Given the description of an element on the screen output the (x, y) to click on. 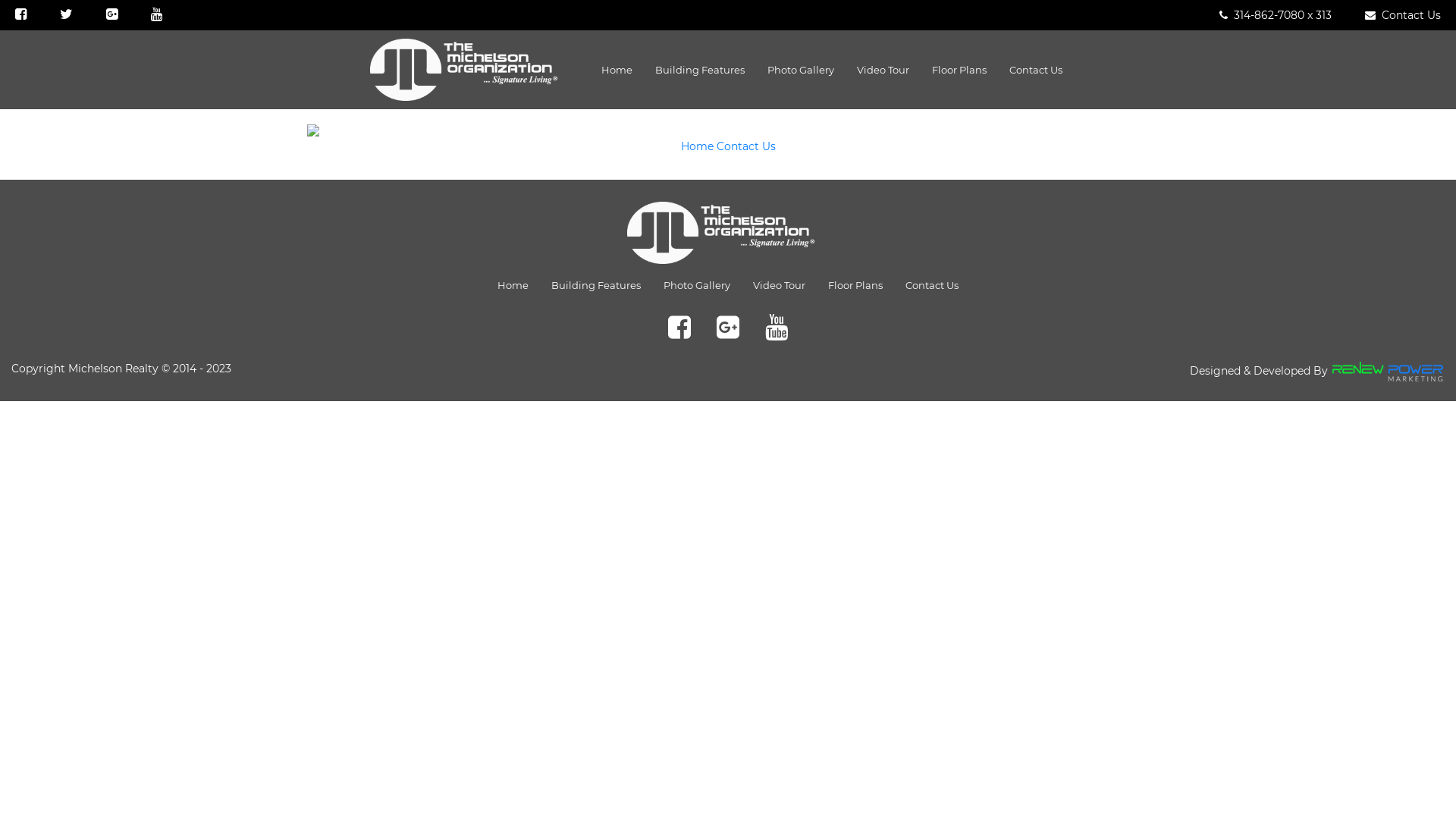
Video Tour Element type: text (882, 69)
Photo Gallery Element type: text (800, 69)
Home Element type: text (512, 284)
Contact Us Element type: text (931, 284)
Floor Plans Element type: text (958, 69)
Home Element type: text (616, 69)
Contact Us Element type: text (745, 146)
Video Tour Element type: text (778, 284)
Home Element type: text (696, 146)
Photo Gallery Element type: text (696, 284)
Floor Plans Element type: text (855, 284)
314-862-7080 x 313 Element type: text (1275, 14)
Contact Us Element type: text (1035, 69)
Building Features Element type: text (595, 284)
Building Features Element type: text (699, 69)
